Given the description of an element on the screen output the (x, y) to click on. 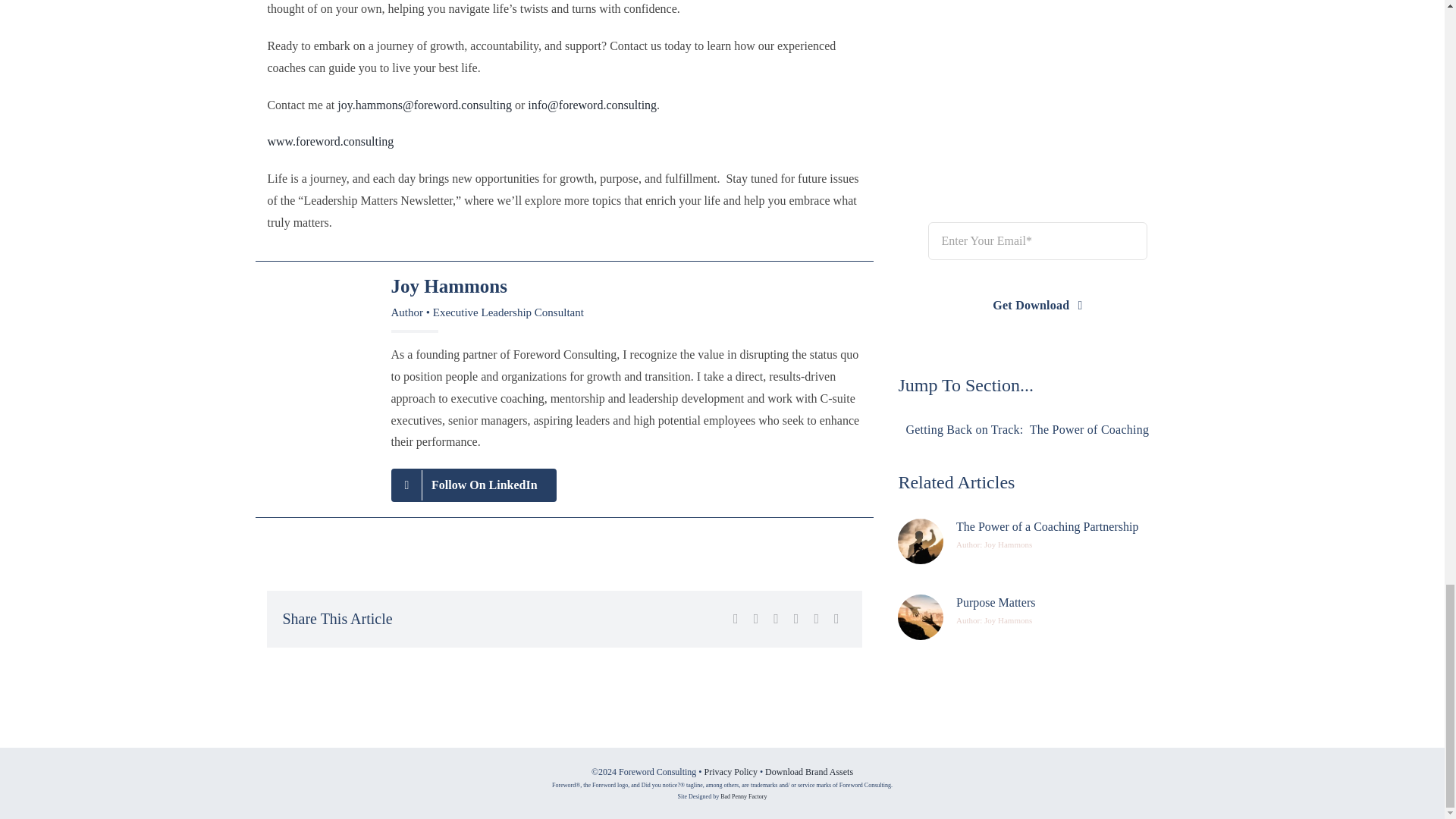
www.foreword.consulting (329, 141)
Follow On LinkedIn (473, 485)
